Given the description of an element on the screen output the (x, y) to click on. 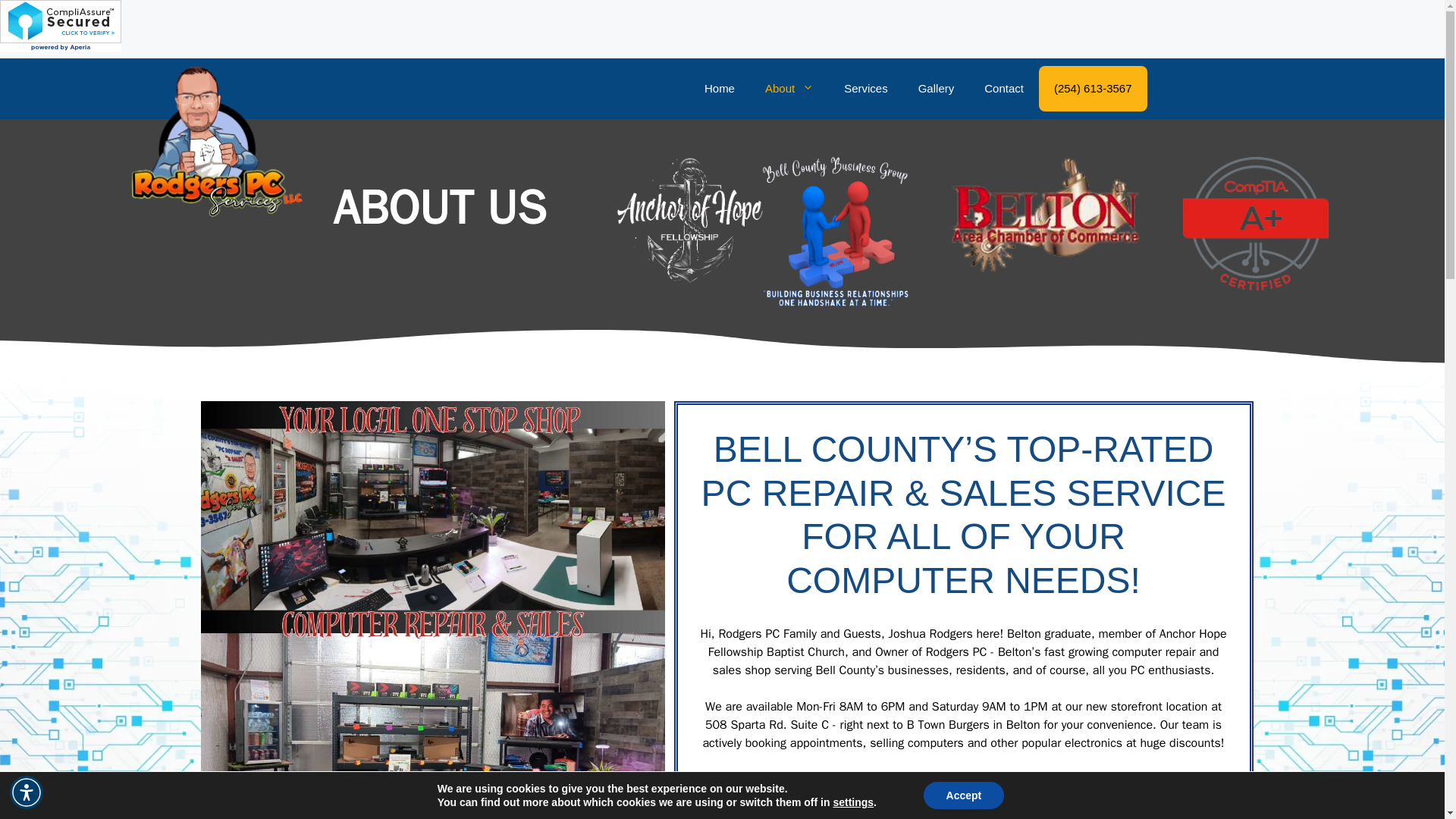
Accessibility Menu (26, 792)
Home (718, 87)
Services (865, 87)
Contact (1004, 87)
Gallery (935, 87)
About (788, 87)
